Given the description of an element on the screen output the (x, y) to click on. 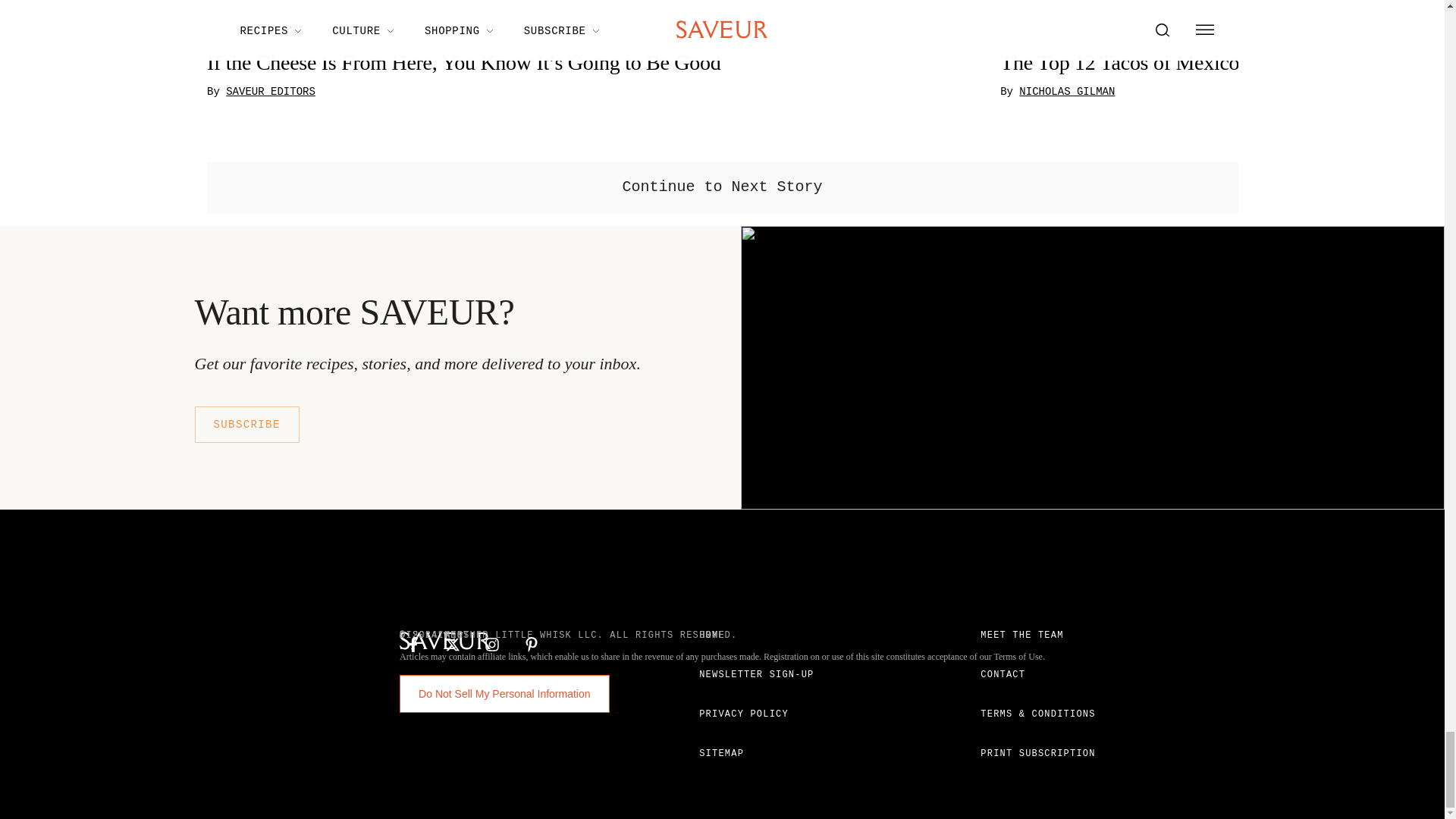
SAVEUR EDITORS (270, 92)
